Given the description of an element on the screen output the (x, y) to click on. 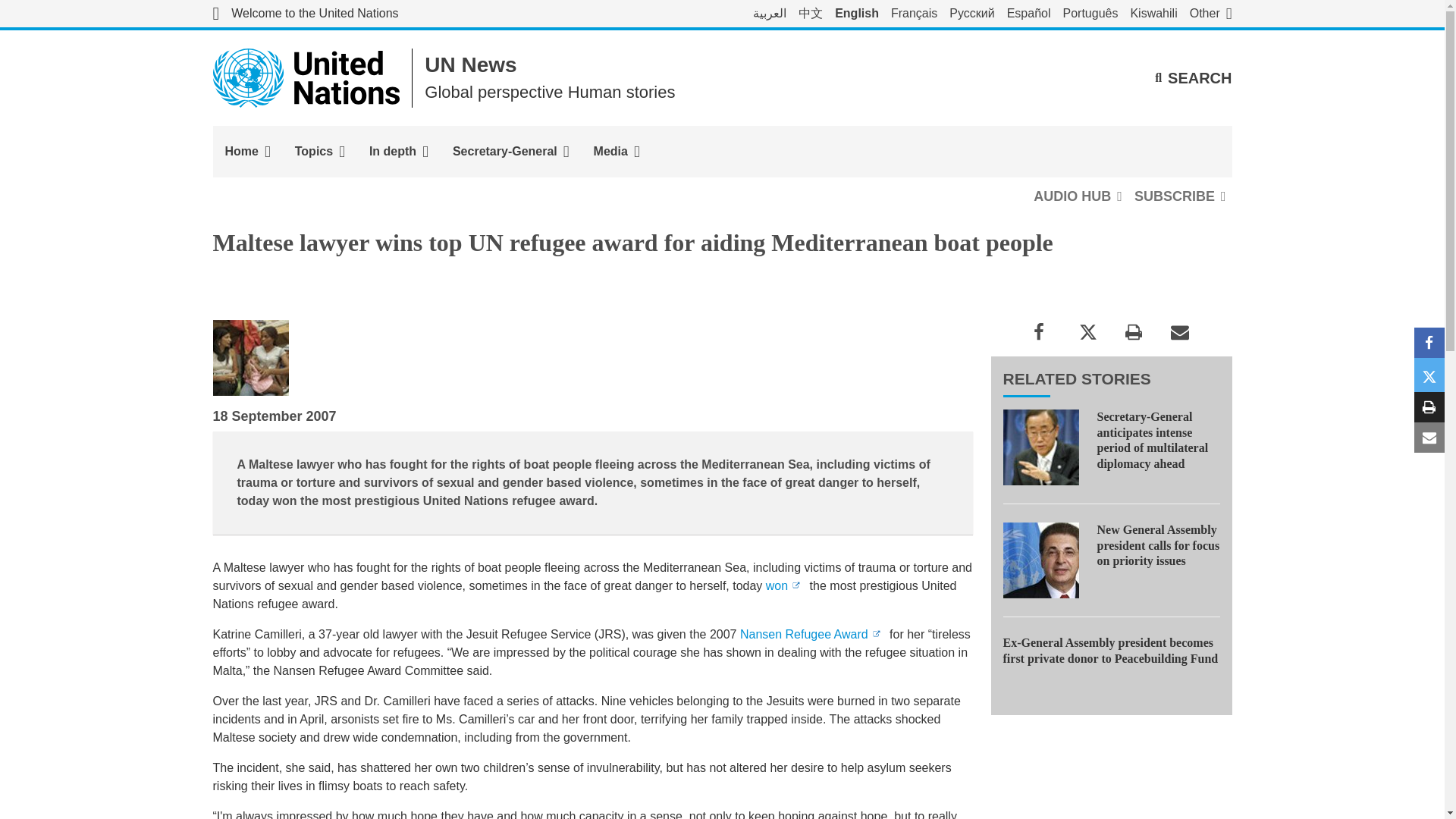
Welcome to the United Nations (304, 13)
Kiswahili (1152, 13)
Other (1210, 13)
English (856, 13)
UN News (470, 64)
UN News (470, 64)
Topics (319, 151)
SEARCH (1192, 77)
United Nations (304, 13)
Home (247, 151)
